Given the description of an element on the screen output the (x, y) to click on. 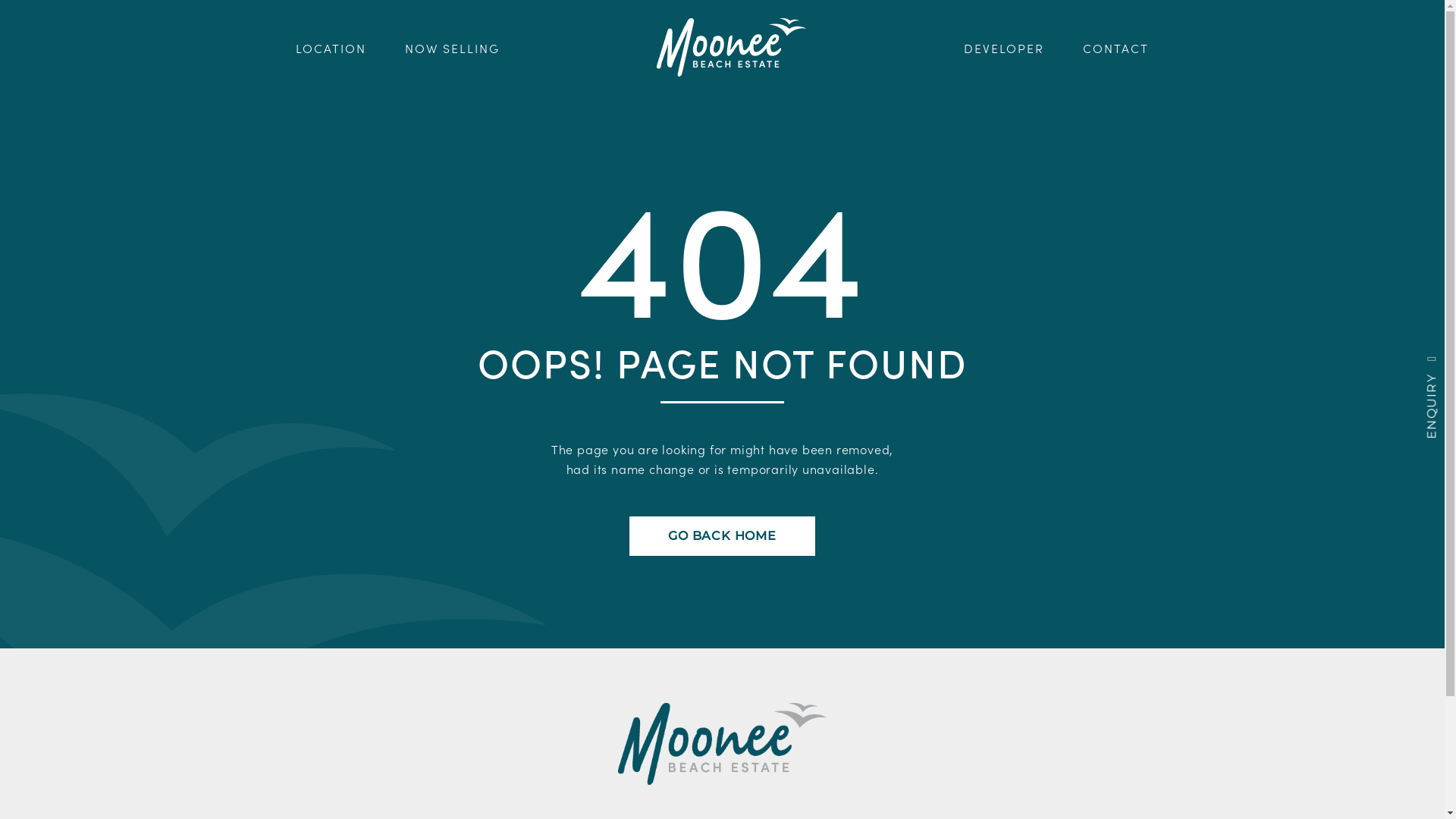
GO BACK HOME Element type: text (721, 535)
LOCATION Element type: text (330, 46)
CONTACT Element type: text (1115, 46)
NOW SELLING Element type: text (451, 46)
Submit Element type: text (1096, 459)
DEVELOPER Element type: text (1003, 46)
